Given the description of an element on the screen output the (x, y) to click on. 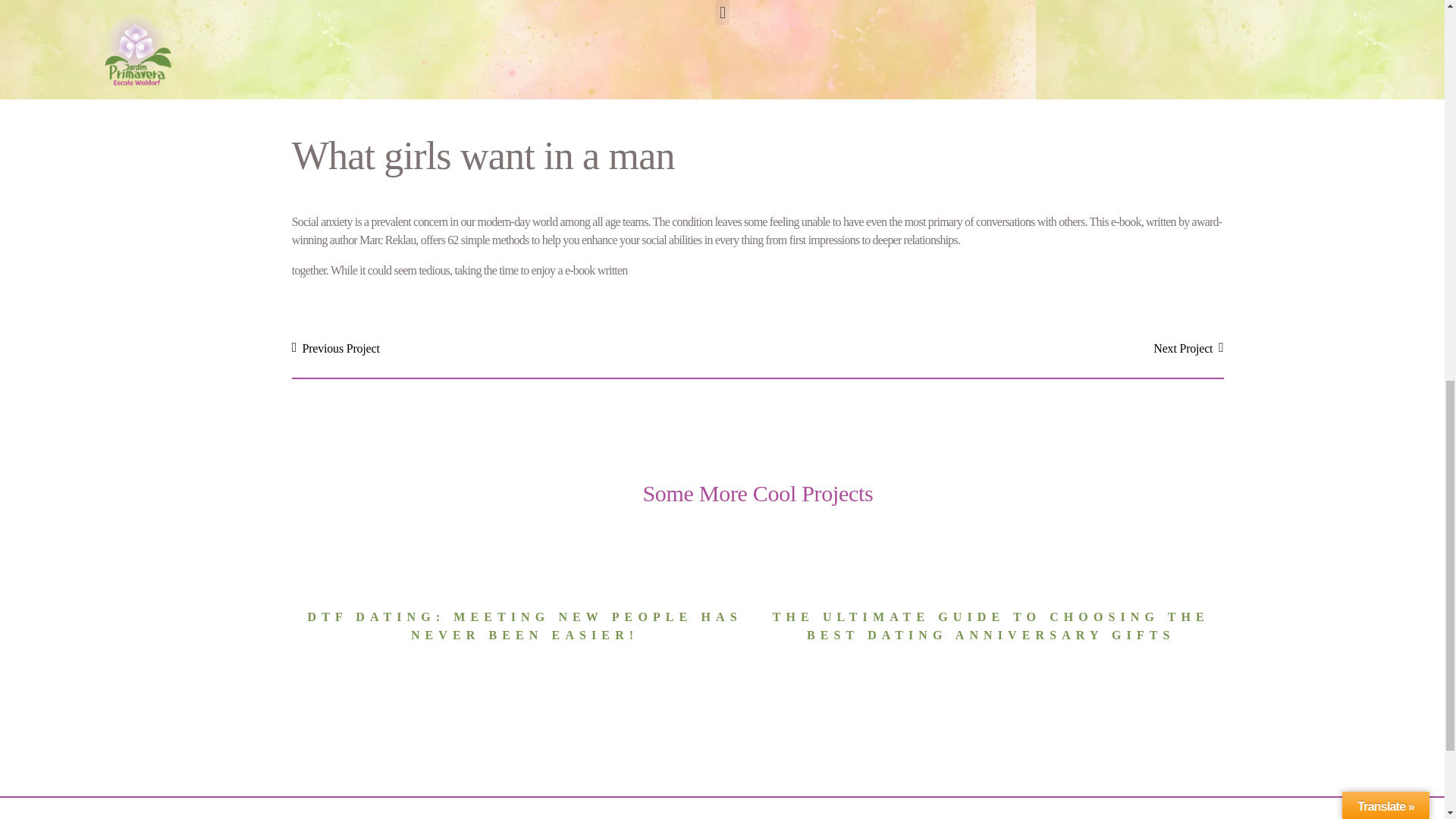
DTF DATING: MEETING NEW PEOPLE HAS NEVER BEEN EASIER! (524, 625)
Next Project (990, 348)
Previous Project (524, 348)
